Given the description of an element on the screen output the (x, y) to click on. 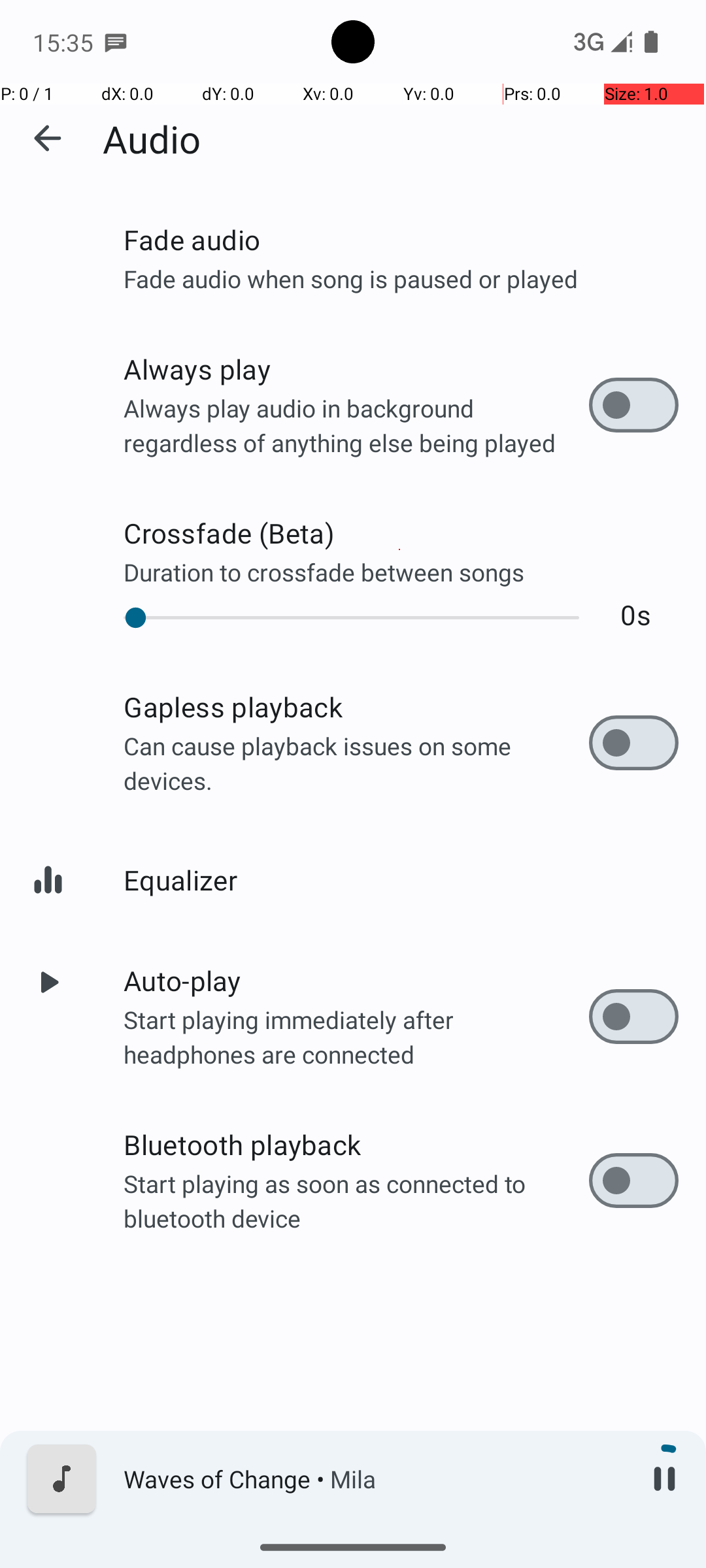
Waves of Change • Mila Element type: android.widget.TextView (372, 1478)
Fade audio Element type: android.widget.TextView (400, 239)
Fade audio when song is paused or played Element type: android.widget.TextView (400, 278)
Always play Element type: android.widget.TextView (355, 368)
Always play audio in background regardless of anything else being played Element type: android.widget.TextView (355, 424)
Crossfade (Beta) Element type: android.widget.TextView (400, 532)
Duration to crossfade between songs Element type: android.widget.TextView (400, 571)
0s Element type: android.widget.TextView (635, 614)
Gapless playback Element type: android.widget.TextView (355, 706)
Can cause playback issues on some devices. Element type: android.widget.TextView (355, 762)
Equalizer Element type: android.widget.TextView (400, 879)
Auto-play Element type: android.widget.TextView (355, 979)
Start playing immediately after headphones are connected Element type: android.widget.TextView (355, 1036)
Bluetooth playback Element type: android.widget.TextView (355, 1143)
Start playing as soon as connected to bluetooth device Element type: android.widget.TextView (355, 1200)
